Given the description of an element on the screen output the (x, y) to click on. 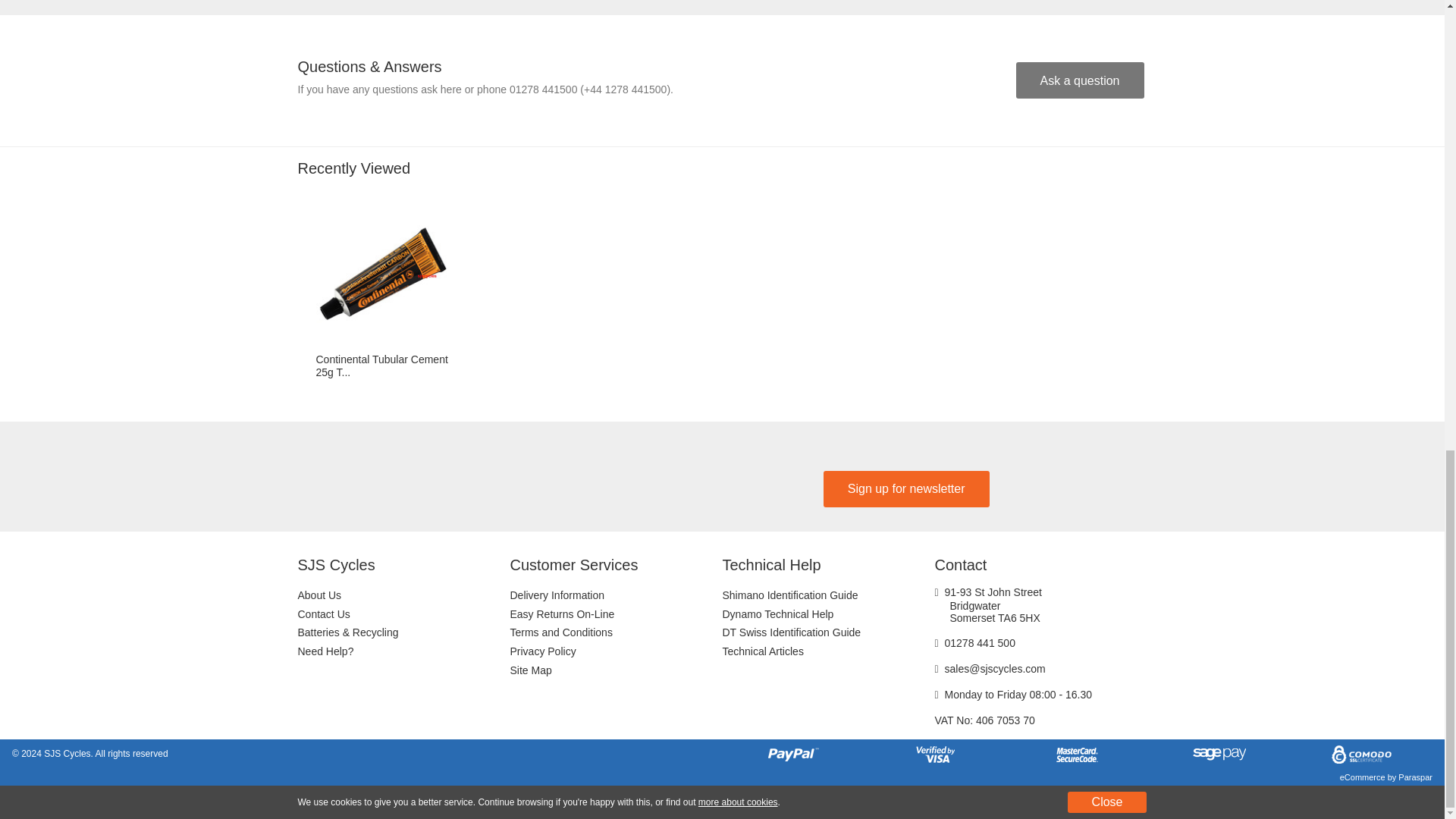
This opens up in a new window (737, 801)
Dynamo Technical Help (828, 614)
Continental Tubular Cement 25g Tube for Carbon Rims (381, 274)
Ask a question (1080, 80)
DT Swiss Identification Guide (828, 632)
Shimano Identification Guide (828, 595)
About Us (403, 595)
Sign up for newsletter (907, 488)
Privacy Policy (615, 651)
Technical Articles (828, 651)
Close (1107, 801)
Easy Returns On-Line (615, 614)
Contact Us (403, 614)
Site Map (615, 670)
Delivery Information (615, 595)
